Given the description of an element on the screen output the (x, y) to click on. 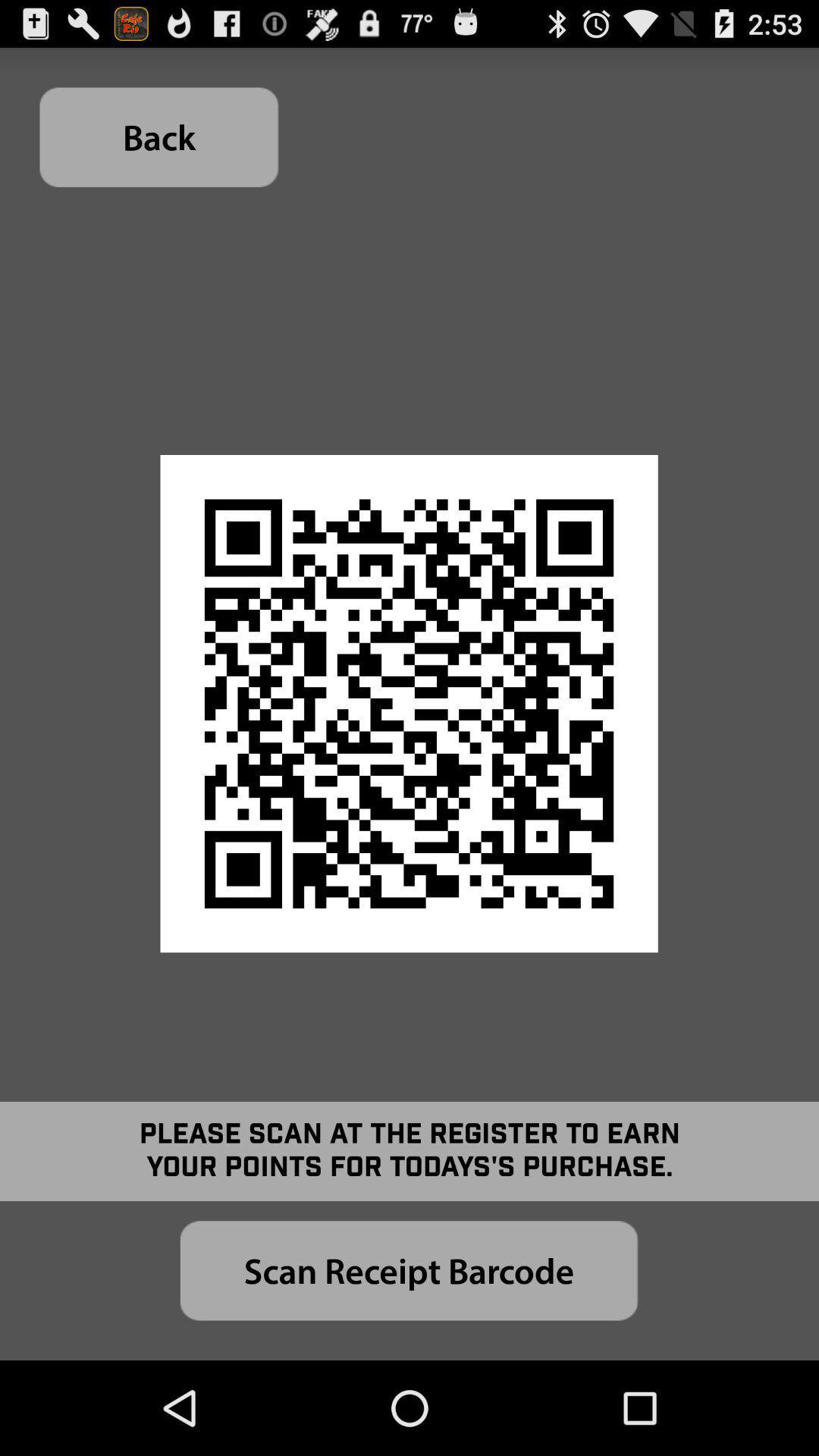
open back icon (158, 137)
